Given the description of an element on the screen output the (x, y) to click on. 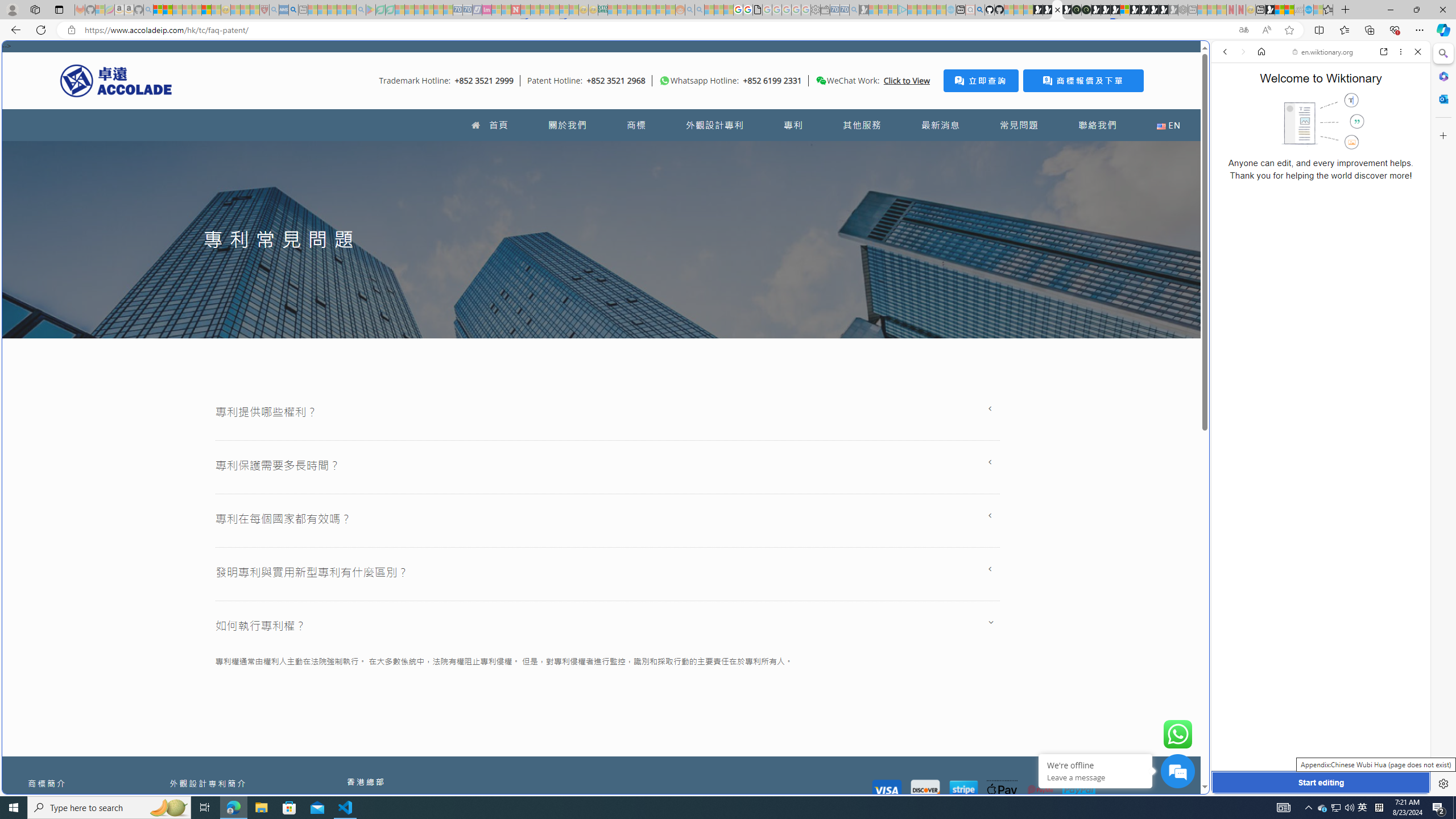
Accolade IP HK Logo (116, 80)
